Given the description of an element on the screen output the (x, y) to click on. 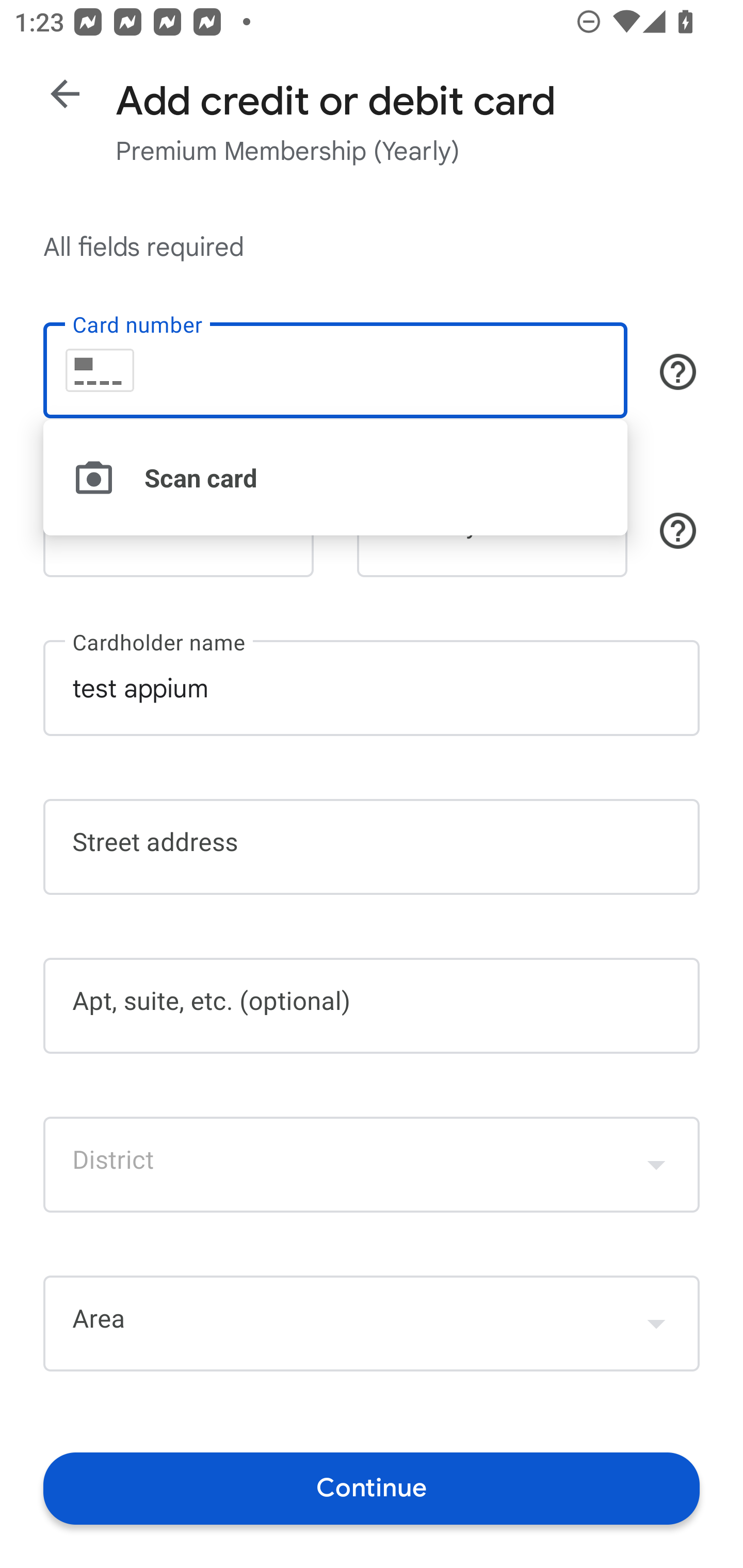
Back (64, 93)
Card number (335, 370)
Button, shows cards that are accepted for payment (677, 371)
Security code help (677, 530)
test appium (371, 687)
Street address (371, 847)
Apt, suite, etc. (optional) (371, 1005)
District (371, 1164)
Show dropdown menu (655, 1164)
Area (371, 1323)
Show dropdown menu (655, 1323)
Continue (371, 1487)
